Given the description of an element on the screen output the (x, y) to click on. 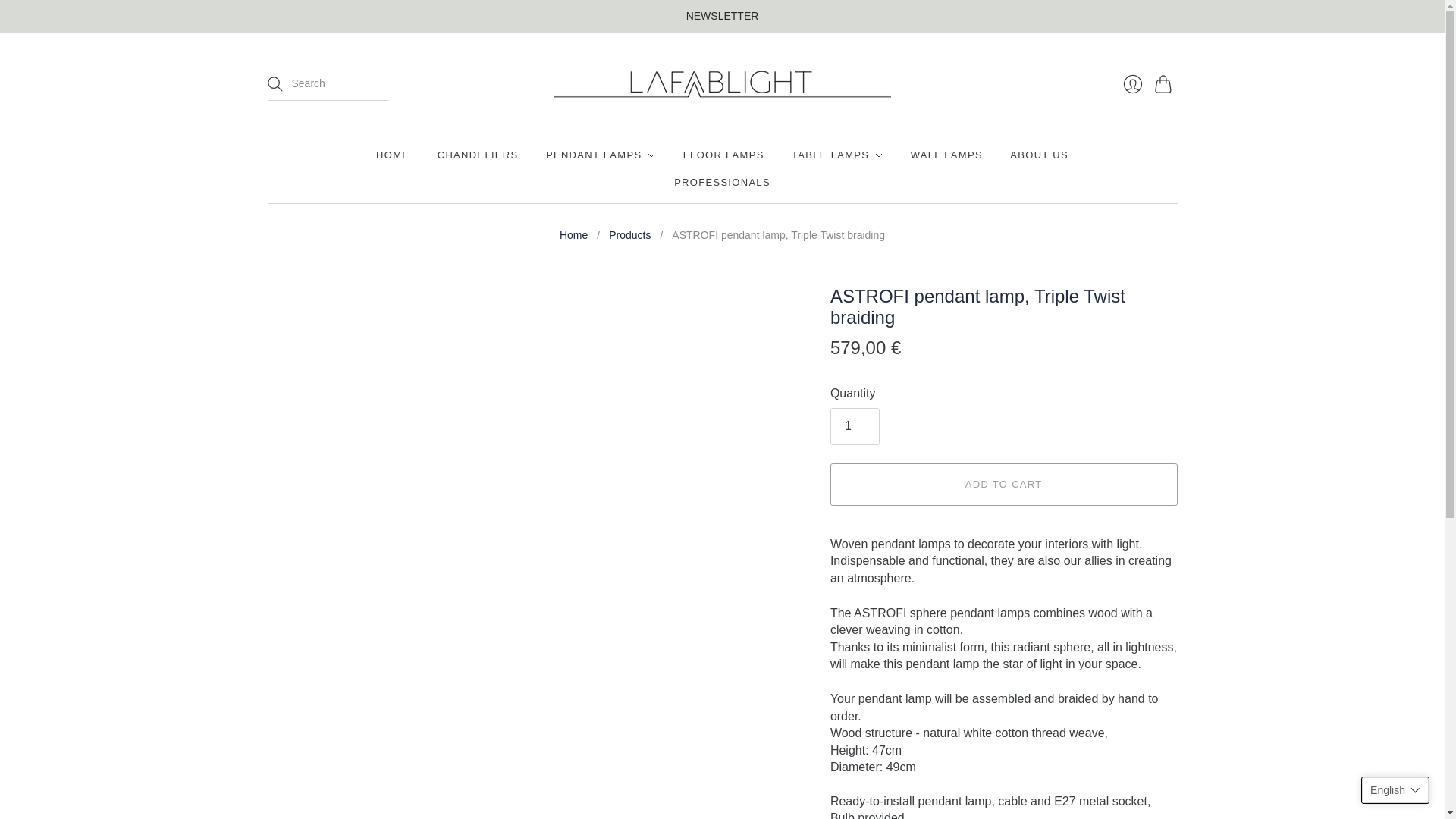
CHANDELIERS (478, 154)
1 (854, 425)
Cart (1165, 83)
PENDANT LAMPS (600, 154)
HOME (392, 154)
TABLE LAMPS (837, 154)
FLOOR LAMPS (723, 154)
Login (1132, 83)
